Given the description of an element on the screen output the (x, y) to click on. 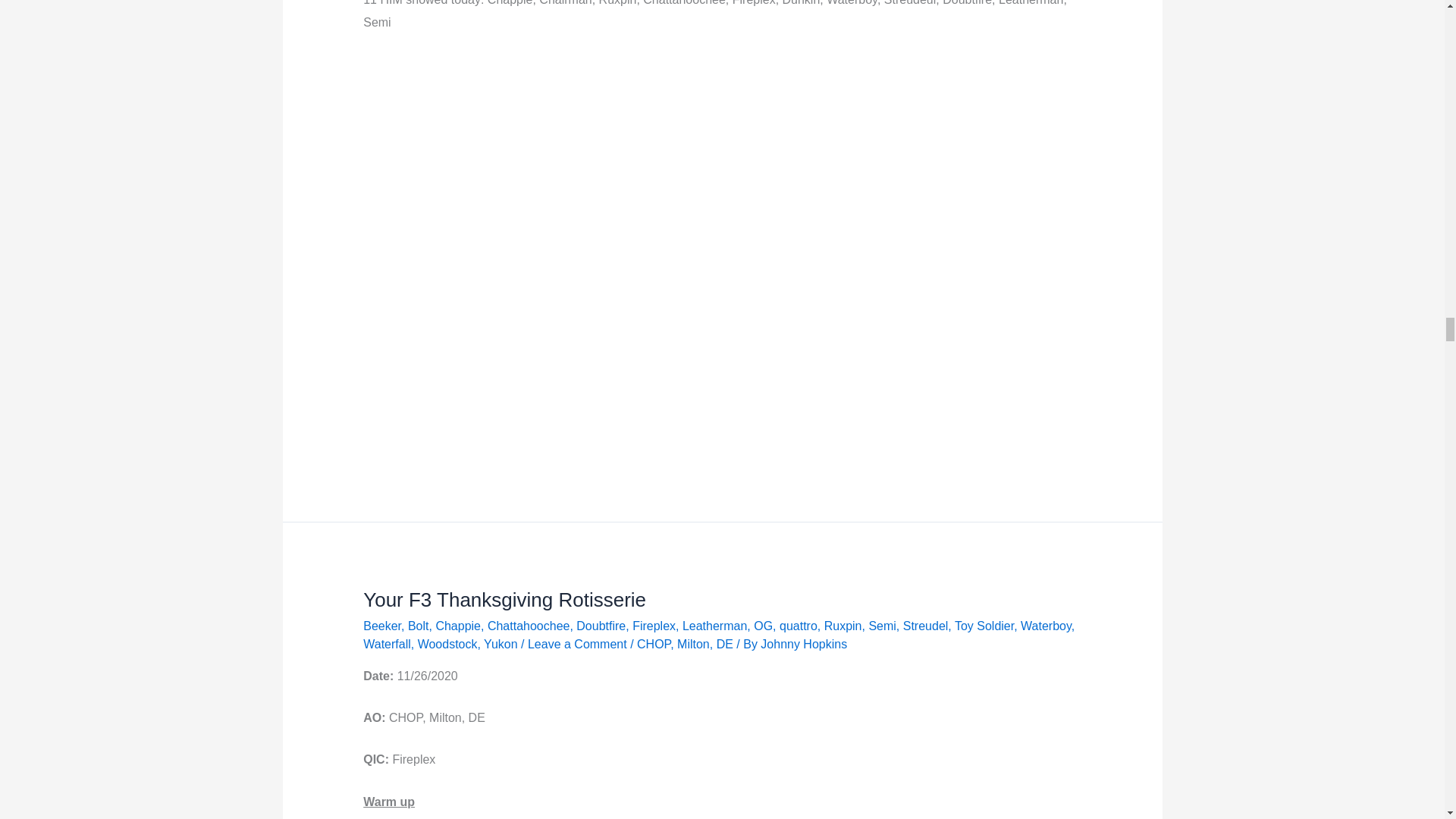
View all posts by Johnny Hopkins (803, 644)
